Given the description of an element on the screen output the (x, y) to click on. 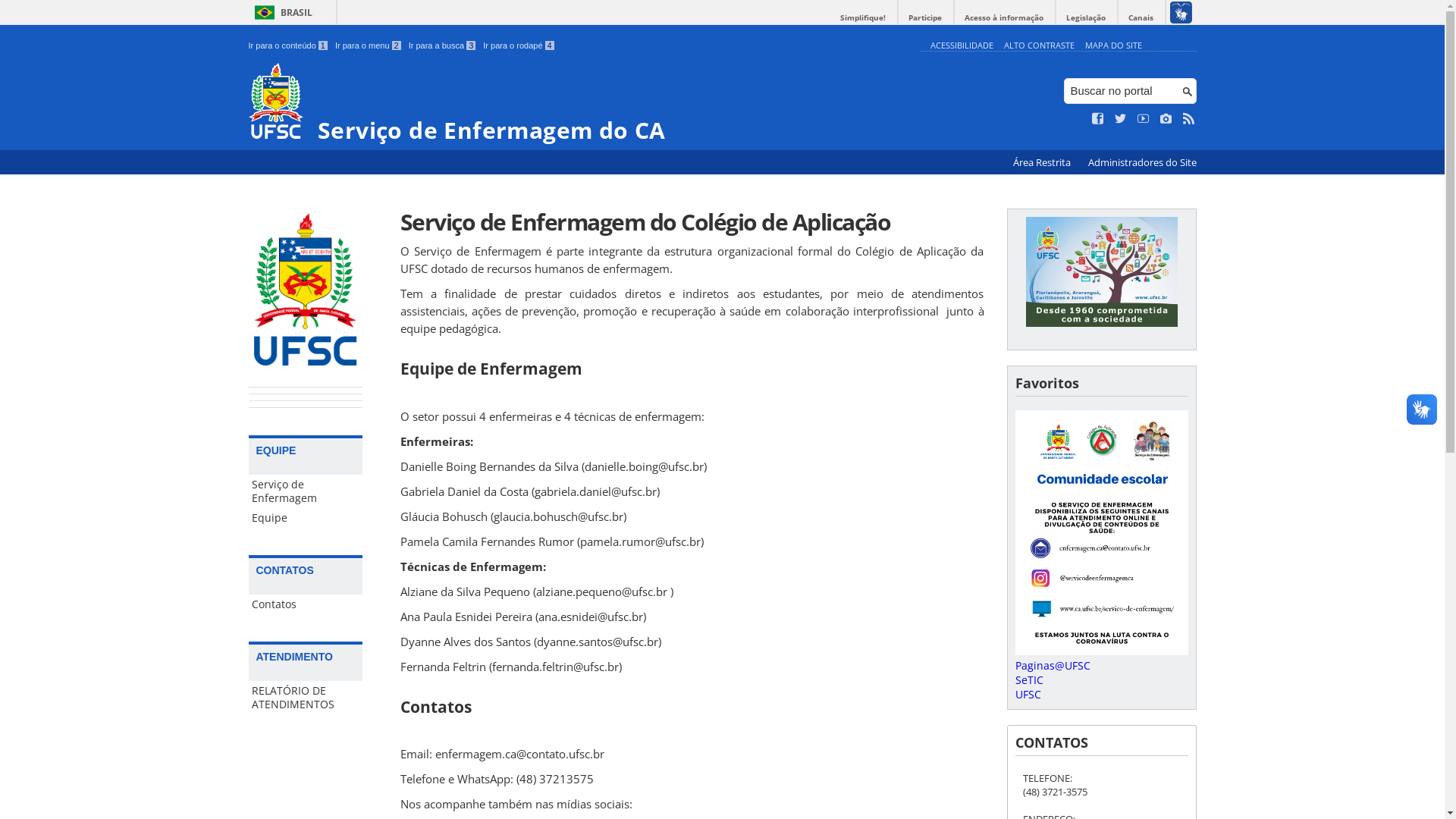
Contatos Element type: text (305, 604)
UFSC Element type: text (1027, 694)
Canais Element type: text (1140, 18)
Participe Element type: text (924, 18)
Paginas@UFSC Element type: text (1051, 665)
Equipe Element type: text (305, 517)
MAPA DO SITE Element type: text (1112, 44)
Ir para o menu 2 Element type: text (368, 45)
Administradores do Site Element type: text (1141, 162)
BRASIL Element type: text (280, 12)
SeTIC Element type: text (1028, 679)
Ir para a busca 3 Element type: text (442, 45)
Simplifique! Element type: text (862, 18)
ALTO CONTRASTE Element type: text (1039, 44)
ACESSIBILIDADE Element type: text (960, 44)
Veja no Instagram Element type: hover (1166, 118)
Siga no Twitter Element type: hover (1120, 118)
Curta no Facebook Element type: hover (1098, 118)
